Given the description of an element on the screen output the (x, y) to click on. 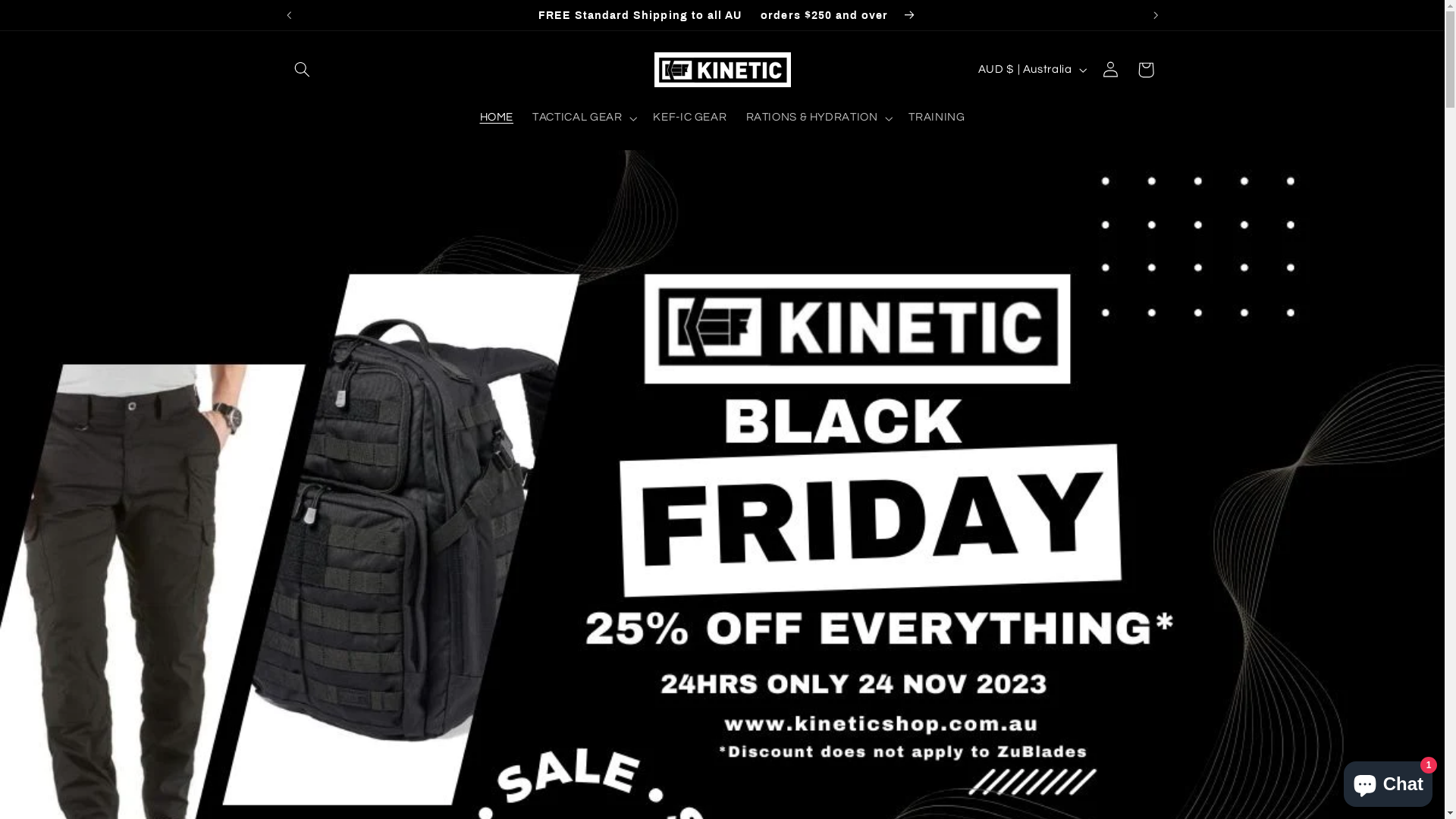
KEF-IC GEAR Element type: text (689, 117)
TRAINING Element type: text (936, 117)
Cart Element type: text (1145, 69)
AUD $ | Australia Element type: text (1030, 69)
HOME Element type: text (496, 117)
Shopify online store chat Element type: hover (1388, 780)
Log in Element type: text (1110, 69)
